Given the description of an element on the screen output the (x, y) to click on. 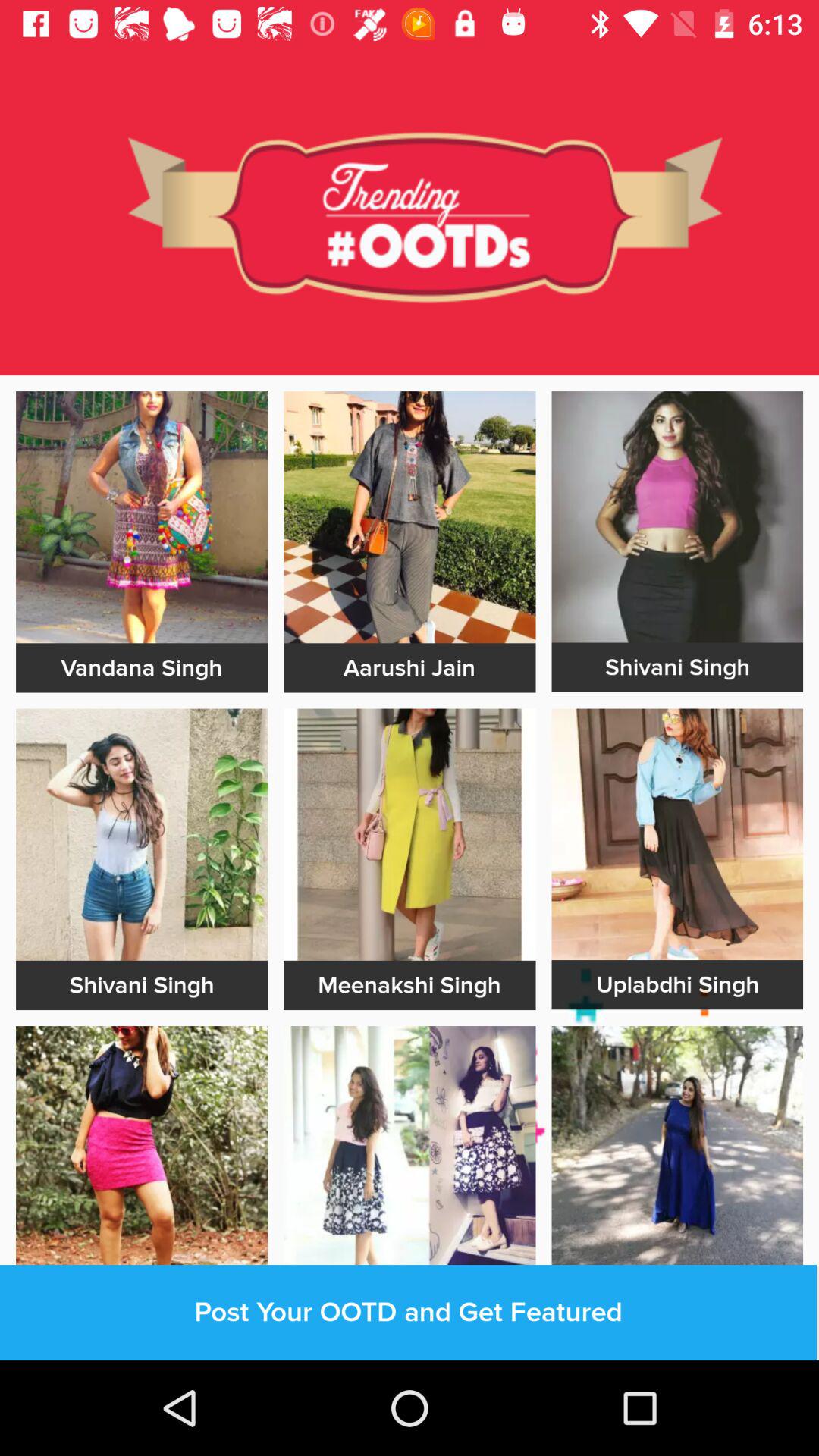
view the personality (677, 834)
